Given the description of an element on the screen output the (x, y) to click on. 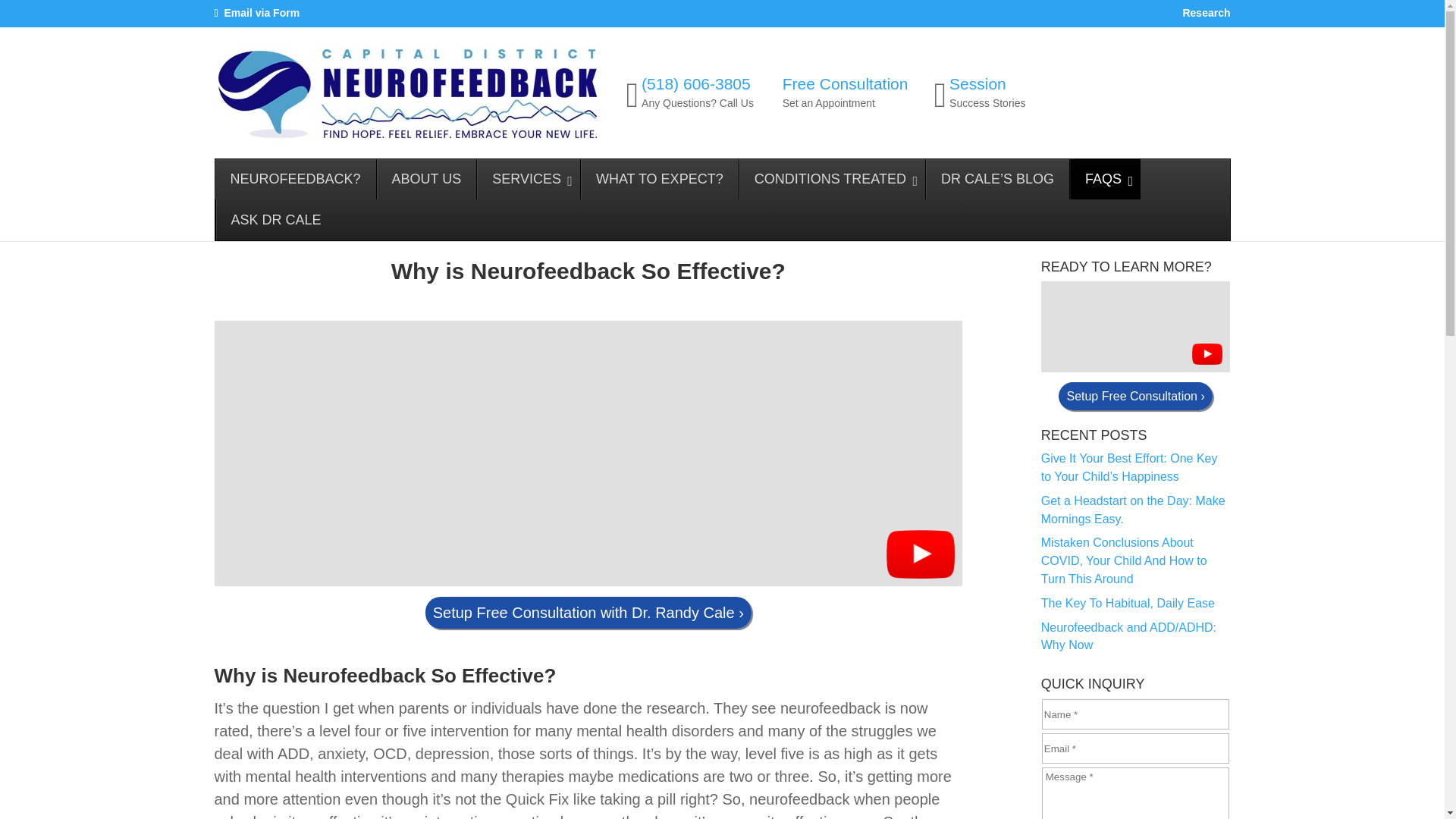
Email via Form (261, 12)
Research (1206, 16)
SERVICES (527, 178)
FAQS (1104, 178)
CONDITIONS TREATED (831, 178)
NEUROFEEDBACK? (295, 178)
WHAT TO EXPECT? (843, 93)
ABOUT US (658, 178)
Play Video (979, 93)
Play Video (426, 178)
